Given the description of an element on the screen output the (x, y) to click on. 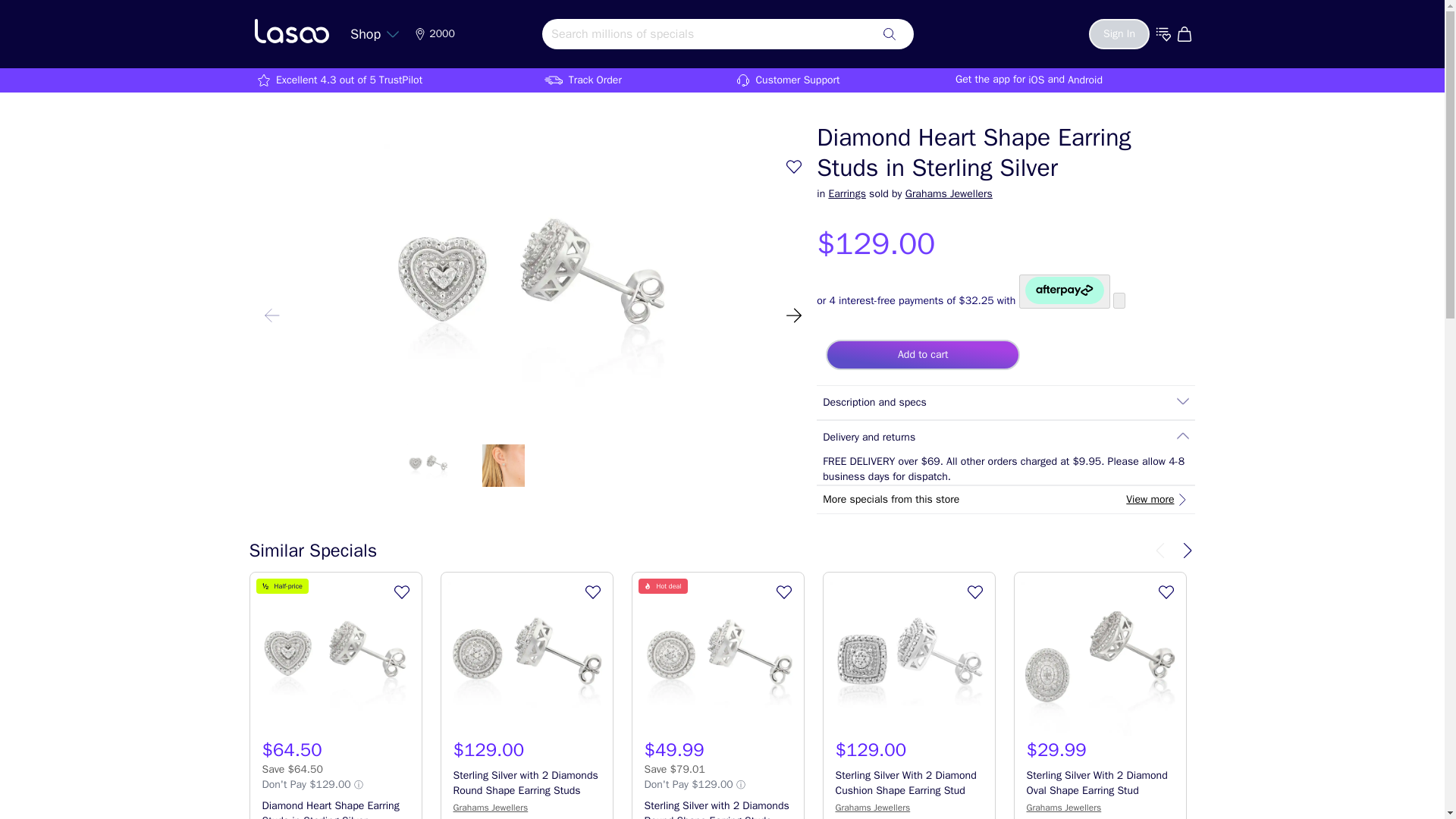
Sterling Silver With 2 Diamond Cushion Shape Earring Stud (909, 660)
Sterling Silver with 2 Diamonds Round Shape Earring Studs (526, 660)
Sterling Silver With 2 Diamond Star Shape Earing Studs (1291, 660)
Go to wishlist (1163, 33)
lasoo (291, 30)
Sterling Silver With 2 Diamond Oval Shape Earring Stud (1100, 660)
Sterling Silver with 2 Diamonds Round Shape Earring Studs (717, 660)
Shop (374, 33)
Diamond Heart Shape Earring Studs in Sterling Silver (336, 660)
Go to cart (1185, 33)
